Given the description of an element on the screen output the (x, y) to click on. 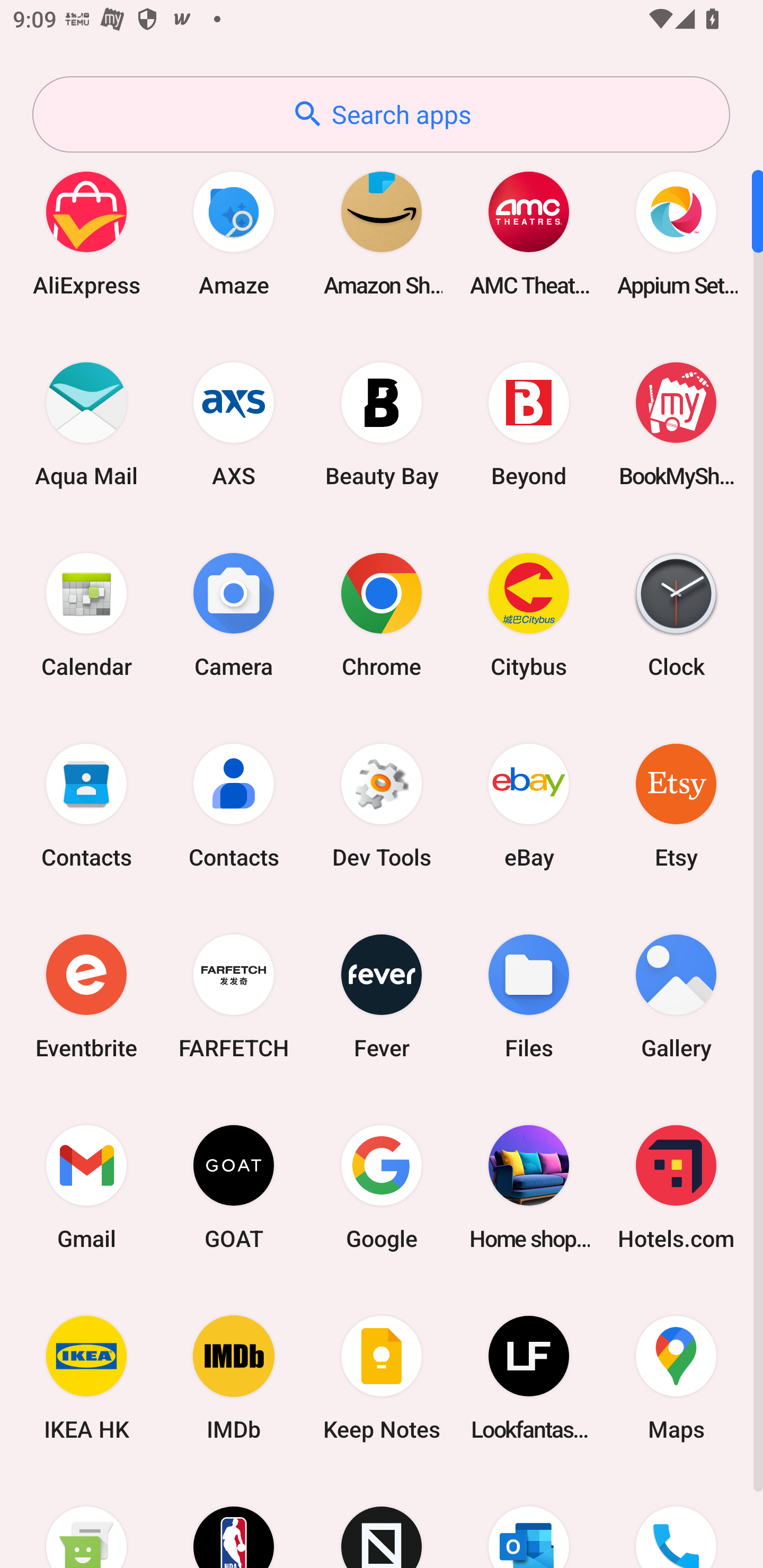
  Search apps (381, 114)
AliExpress (86, 233)
Amaze (233, 233)
Amazon Shopping (381, 233)
AMC Theatres (528, 233)
Appium Settings (676, 233)
Aqua Mail (86, 424)
AXS (233, 424)
Beauty Bay (381, 424)
Beyond (528, 424)
BookMyShow (676, 424)
Calendar (86, 614)
Camera (233, 614)
Chrome (381, 614)
Citybus (528, 614)
Clock (676, 614)
Contacts (86, 805)
Contacts (233, 805)
Dev Tools (381, 805)
eBay (528, 805)
Etsy (676, 805)
Eventbrite (86, 996)
FARFETCH (233, 996)
Fever (381, 996)
Files (528, 996)
Gallery (676, 996)
Gmail (86, 1186)
GOAT (233, 1186)
Google (381, 1186)
Home shopping (528, 1186)
Hotels.com (676, 1186)
IKEA HK (86, 1377)
IMDb (233, 1377)
Keep Notes (381, 1377)
Lookfantastic (528, 1377)
Maps (676, 1377)
